Given the description of an element on the screen output the (x, y) to click on. 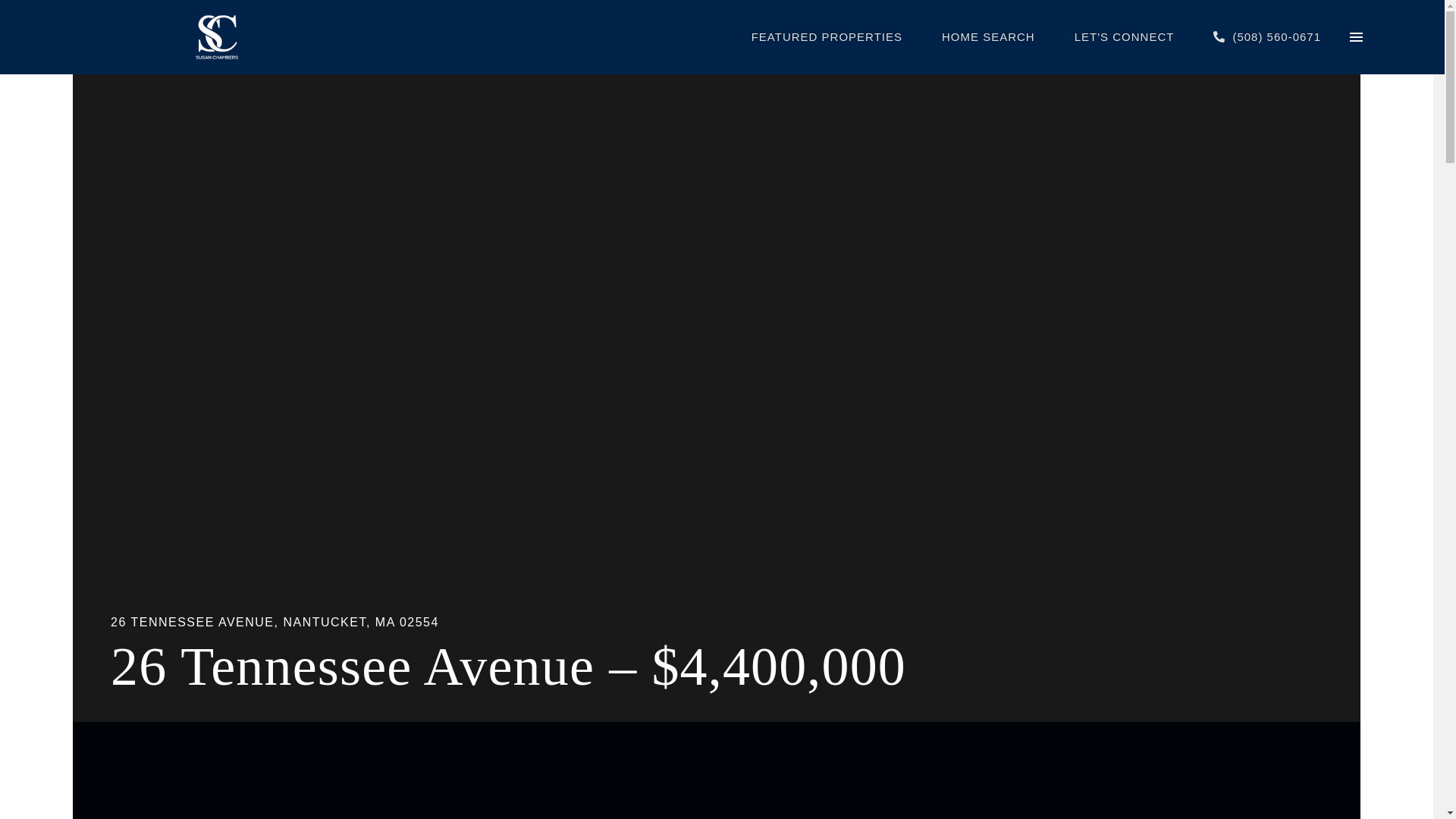
FEATURED PROPERTIES (826, 37)
LET'S CONNECT (1124, 37)
HOME SEARCH (988, 37)
